Given the description of an element on the screen output the (x, y) to click on. 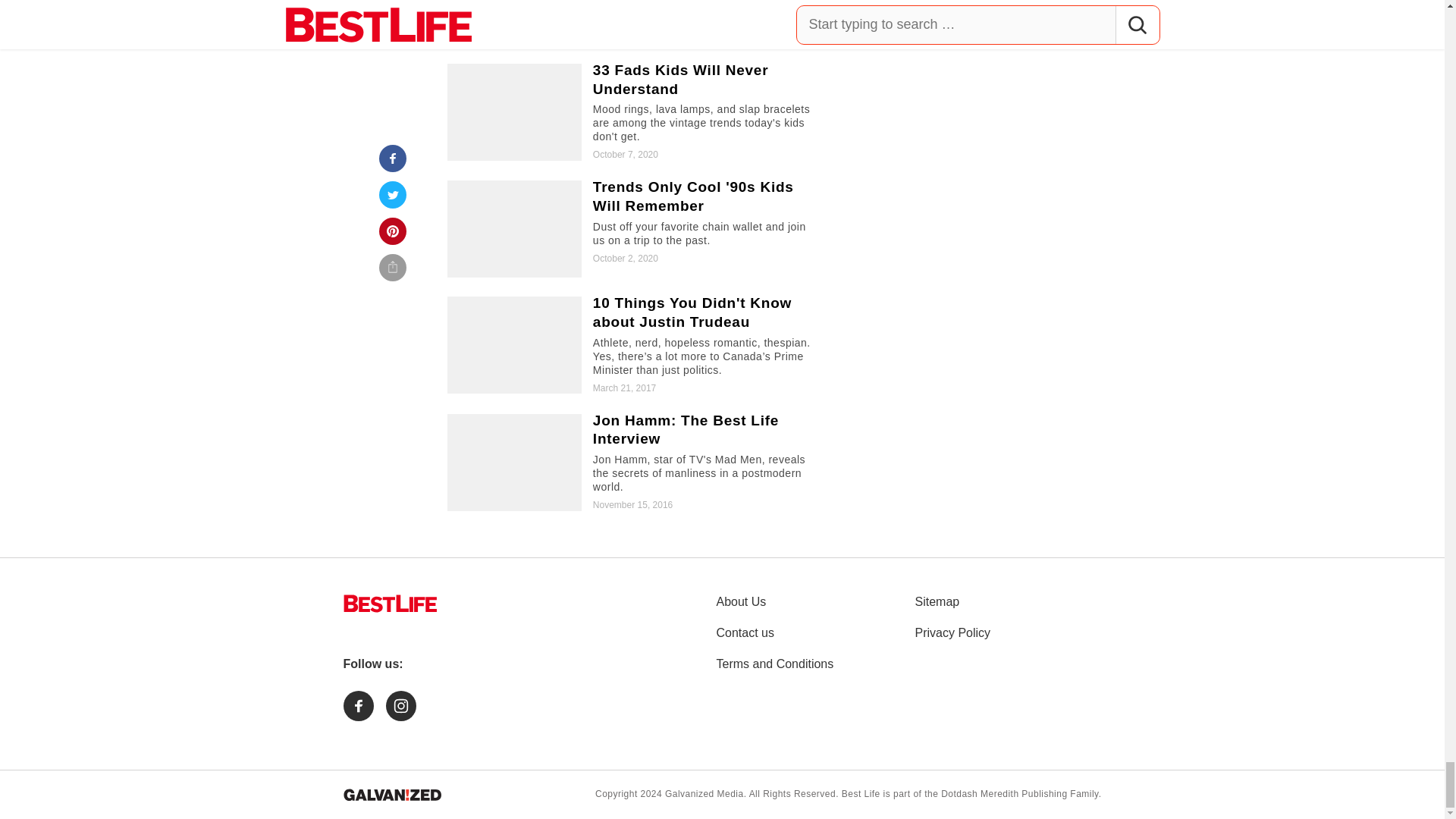
33 Fads Kids Will Never Understand (635, 112)
Movie Quotes Every '90s Kid Knows by Heart (635, 22)
Trends Only Cool '90s Kids Will Remember (635, 228)
10 Things You Didn't Know about Justin Trudeau (635, 344)
